Given the description of an element on the screen output the (x, y) to click on. 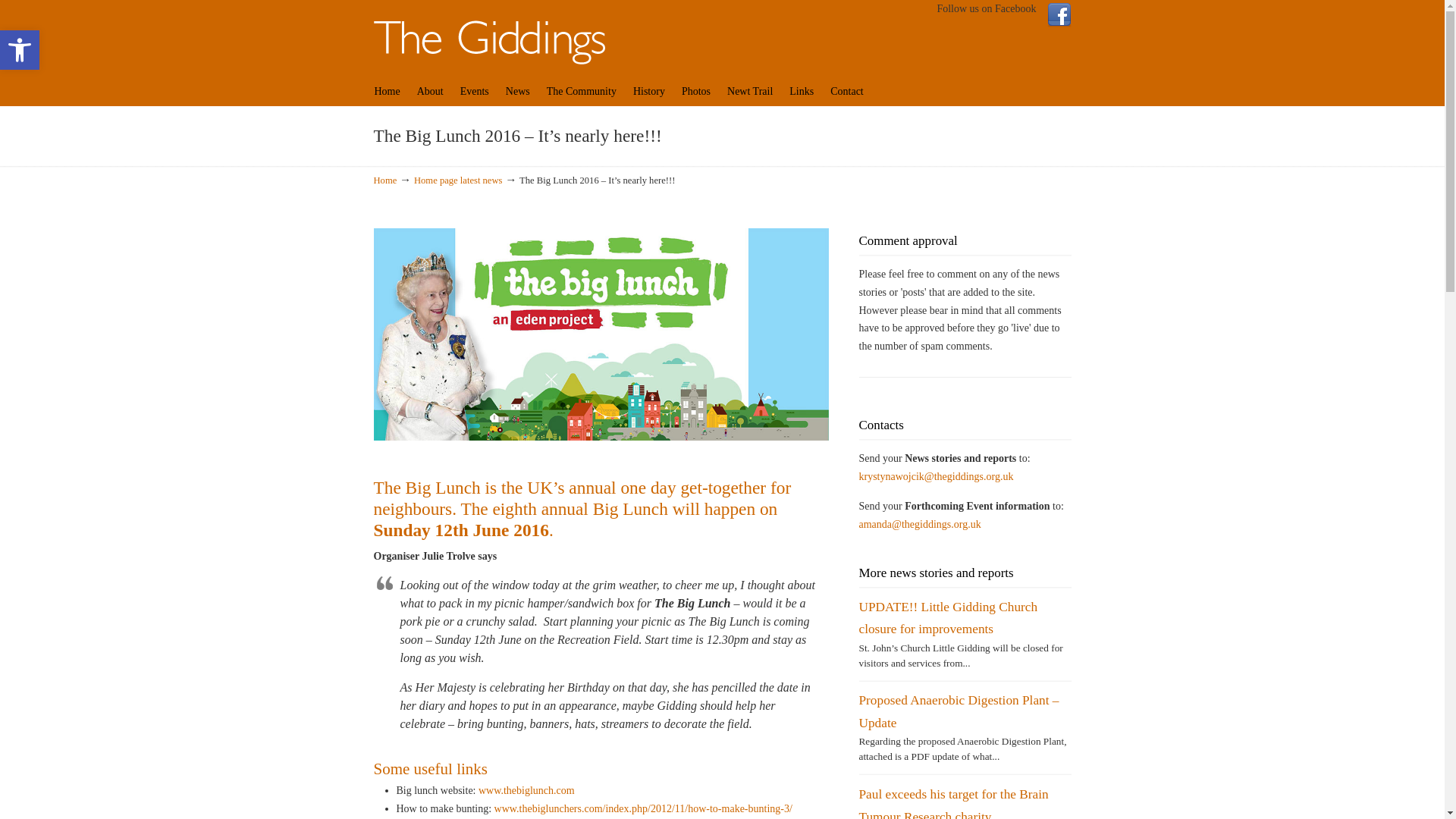
Accessibility Tools (19, 49)
News (512, 91)
Accessibility Tools (19, 49)
History (642, 91)
The Community (19, 49)
UPDATE!! Little Gidding Church closure for improvements (575, 91)
Photos (947, 617)
The Giddings (690, 91)
Events (488, 34)
The Giddings (469, 91)
Home (488, 34)
About (381, 91)
